Given the description of an element on the screen output the (x, y) to click on. 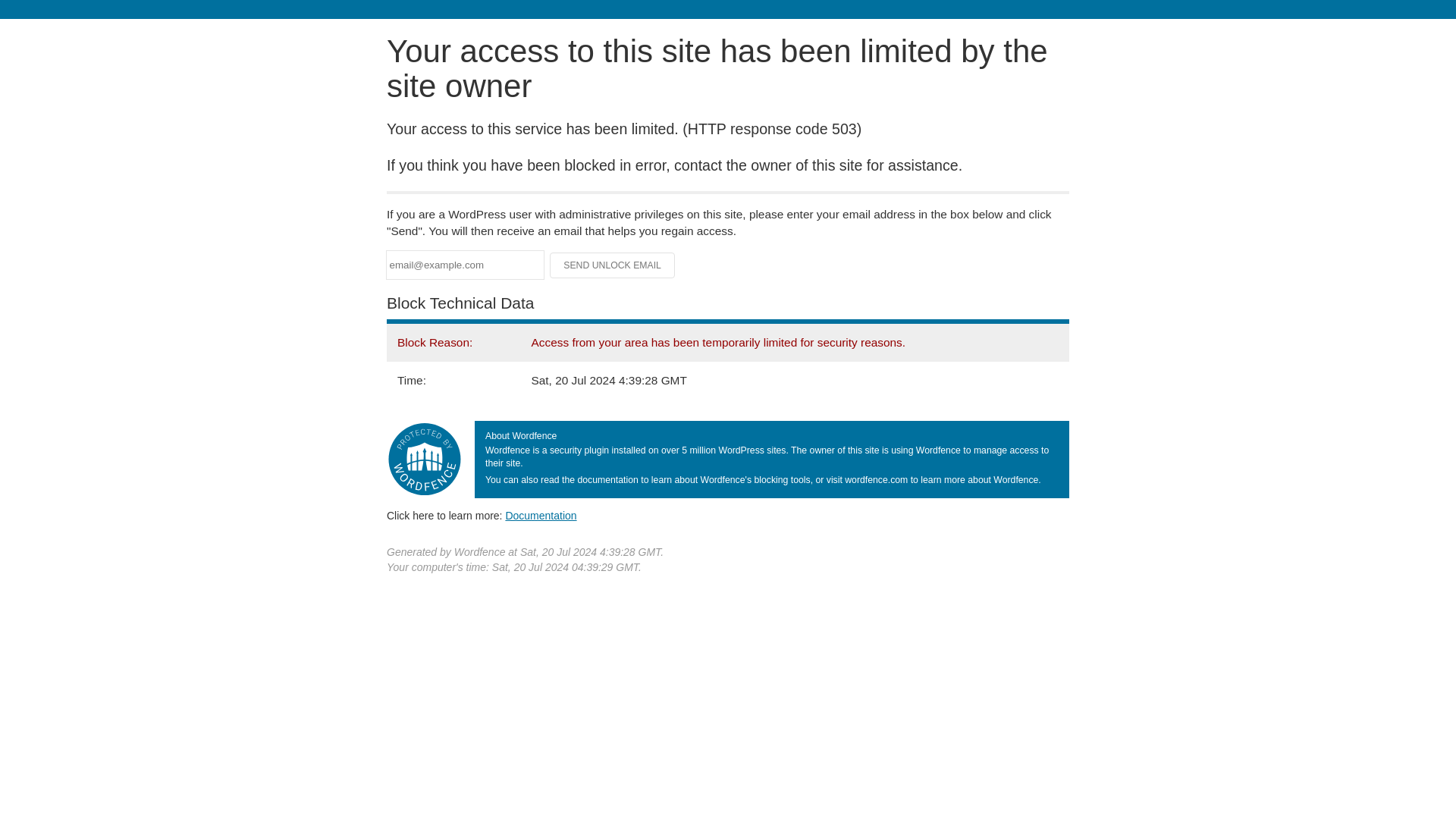
Send Unlock Email (612, 265)
Send Unlock Email (612, 265)
Documentation (540, 515)
